Given the description of an element on the screen output the (x, y) to click on. 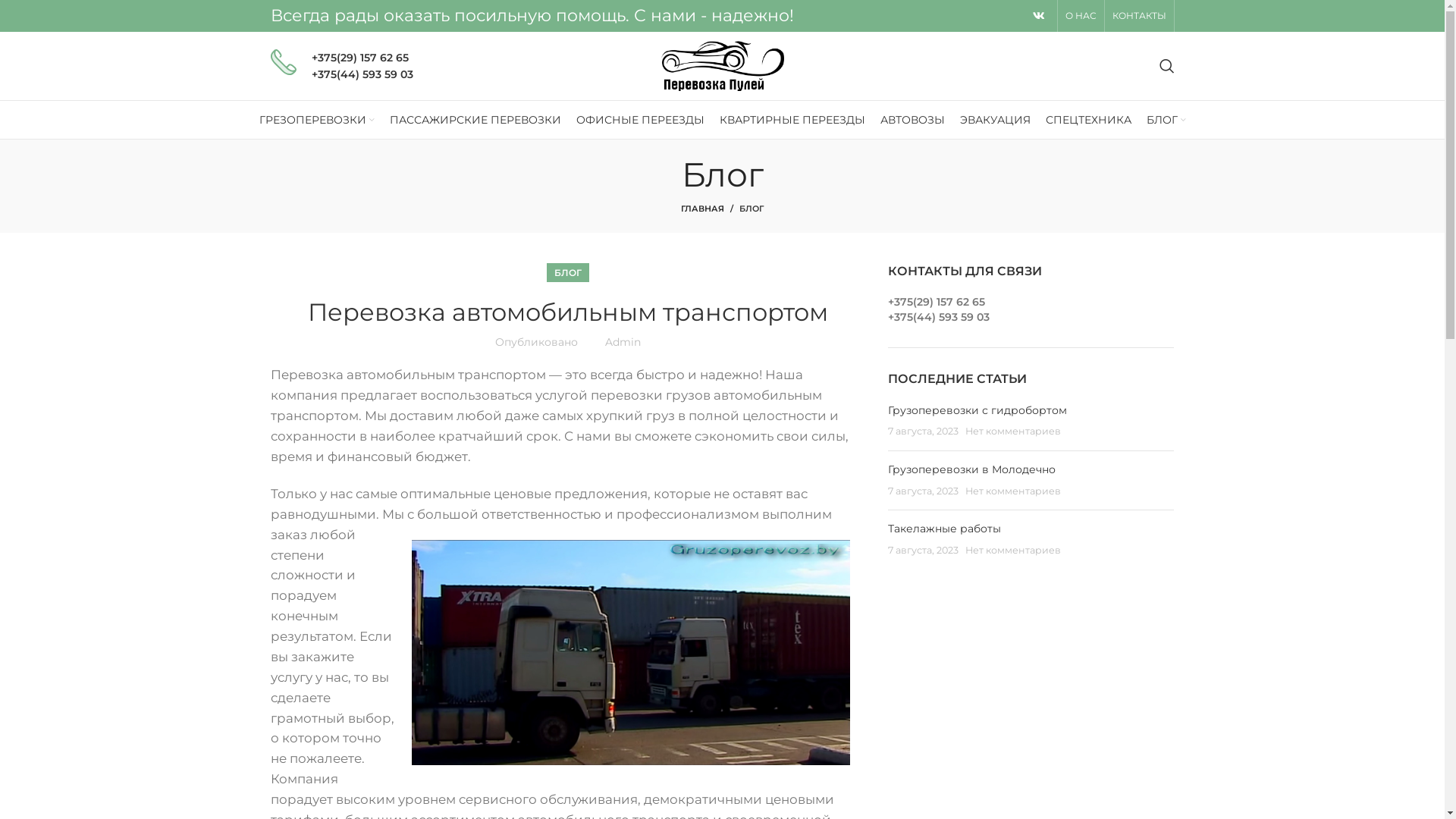
Admin Element type: text (622, 341)
+375(29) 157 62 65 Element type: text (936, 301)
+375(44) 593 59 03 Element type: text (938, 316)
